Given the description of an element on the screen output the (x, y) to click on. 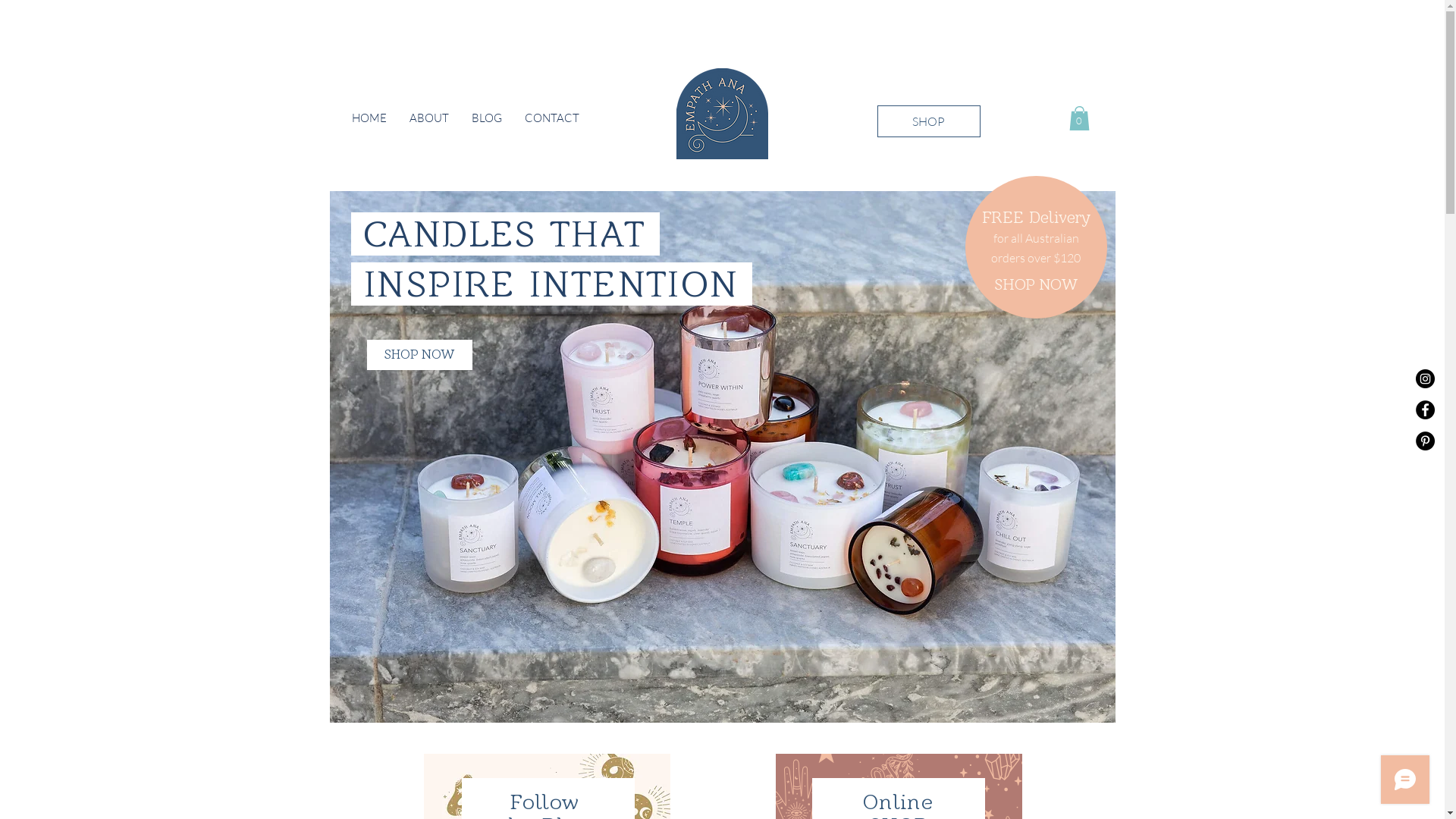
CONTACT Element type: text (550, 118)
BLOG Element type: text (485, 118)
SHOP NOW Element type: text (419, 354)
0 Element type: text (1079, 118)
HOME Element type: text (368, 118)
SHOP Element type: text (927, 121)
ABOUT Element type: text (428, 118)
SHOP NOW Element type: text (1036, 284)
